Given the description of an element on the screen output the (x, y) to click on. 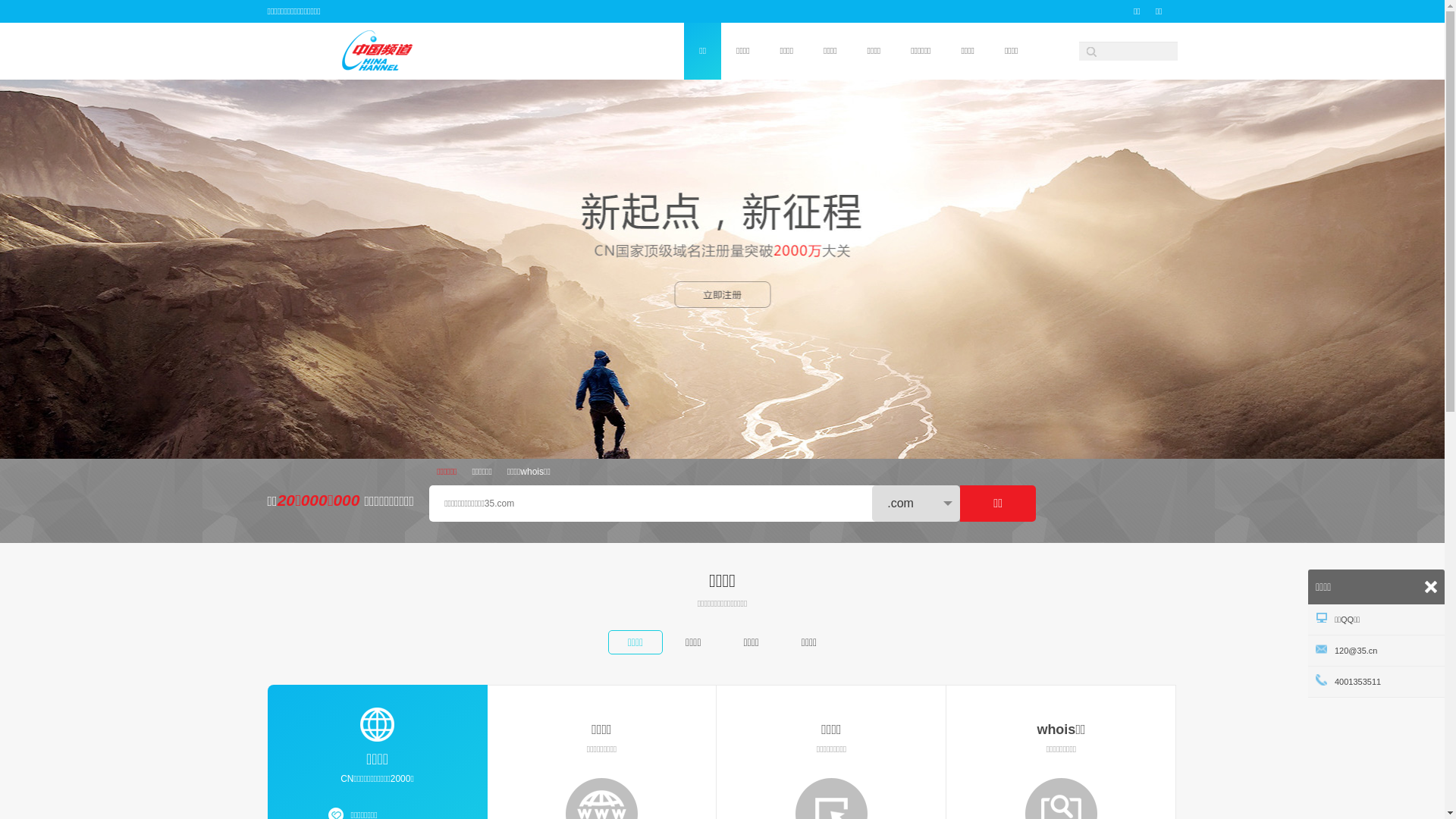
4001353511 Element type: text (1376, 681)
120@35.cn Element type: text (1376, 650)
